Given the description of an element on the screen output the (x, y) to click on. 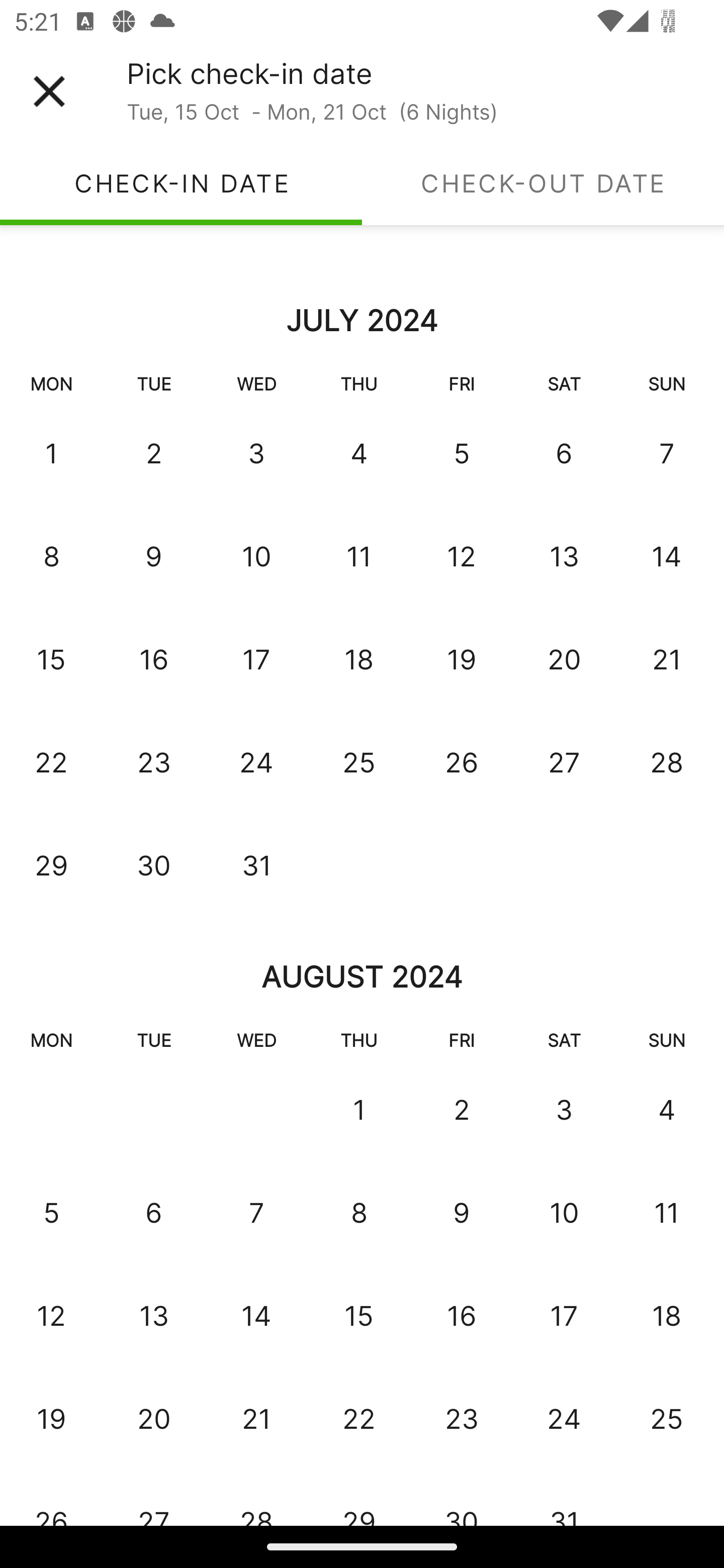
Check-out Date CHECK-OUT DATE (543, 183)
